Given the description of an element on the screen output the (x, y) to click on. 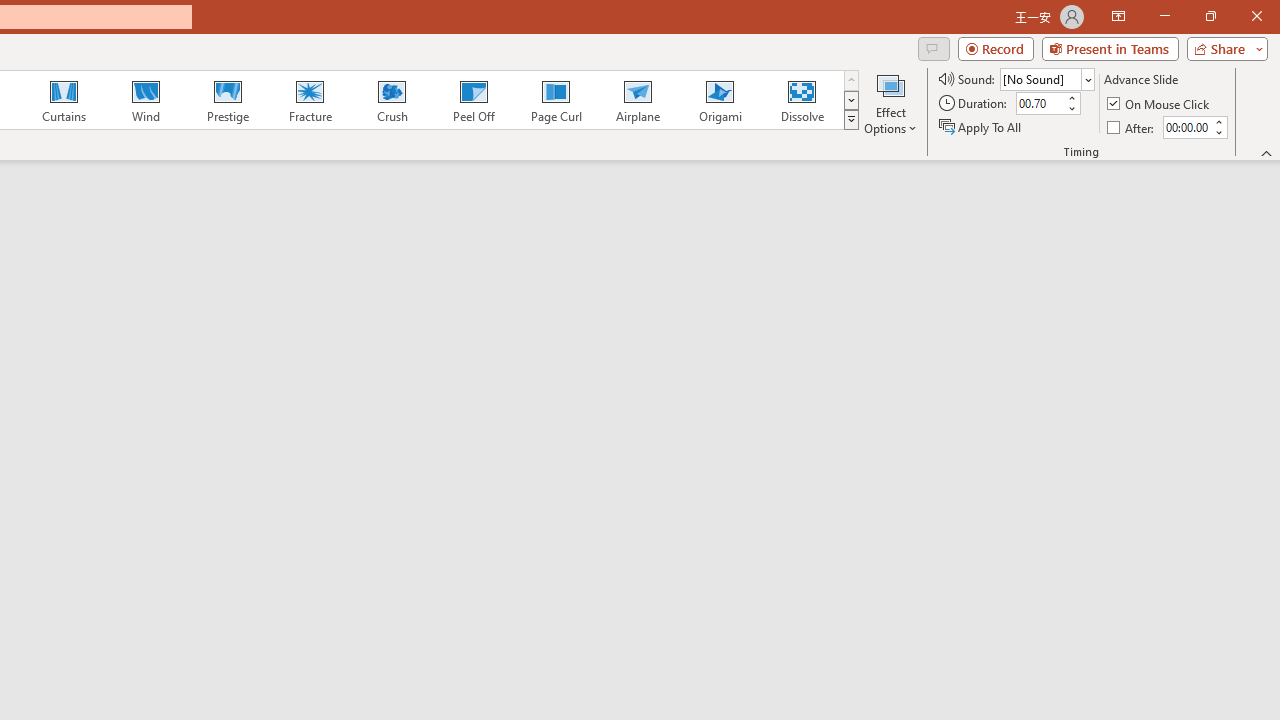
Effect Options (890, 102)
Peel Off (473, 100)
